Given the description of an element on the screen output the (x, y) to click on. 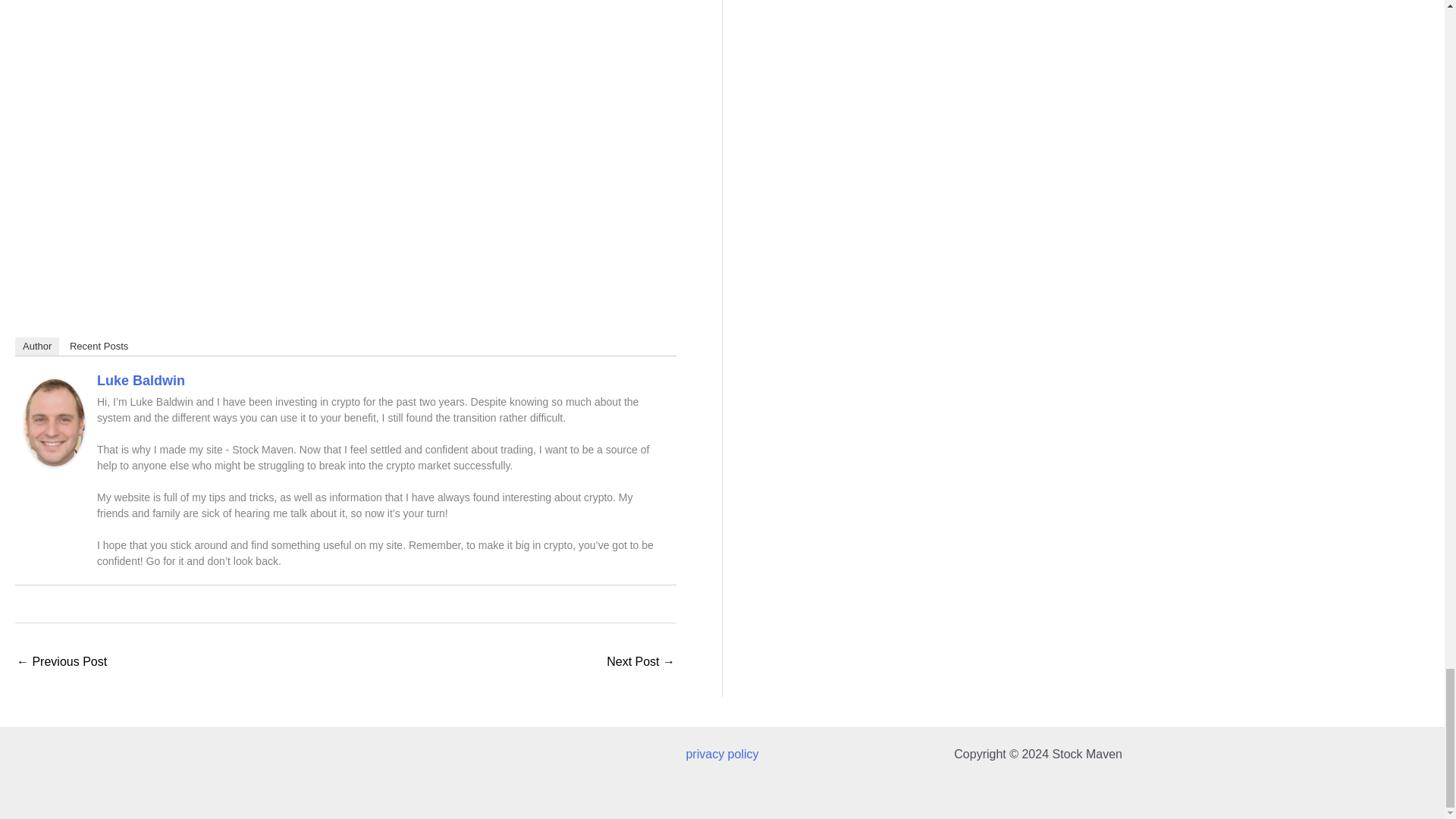
How To Invest In Neuralink (641, 663)
Luke Baldwin (54, 420)
How To Buy Solana (61, 663)
